Given the description of an element on the screen output the (x, y) to click on. 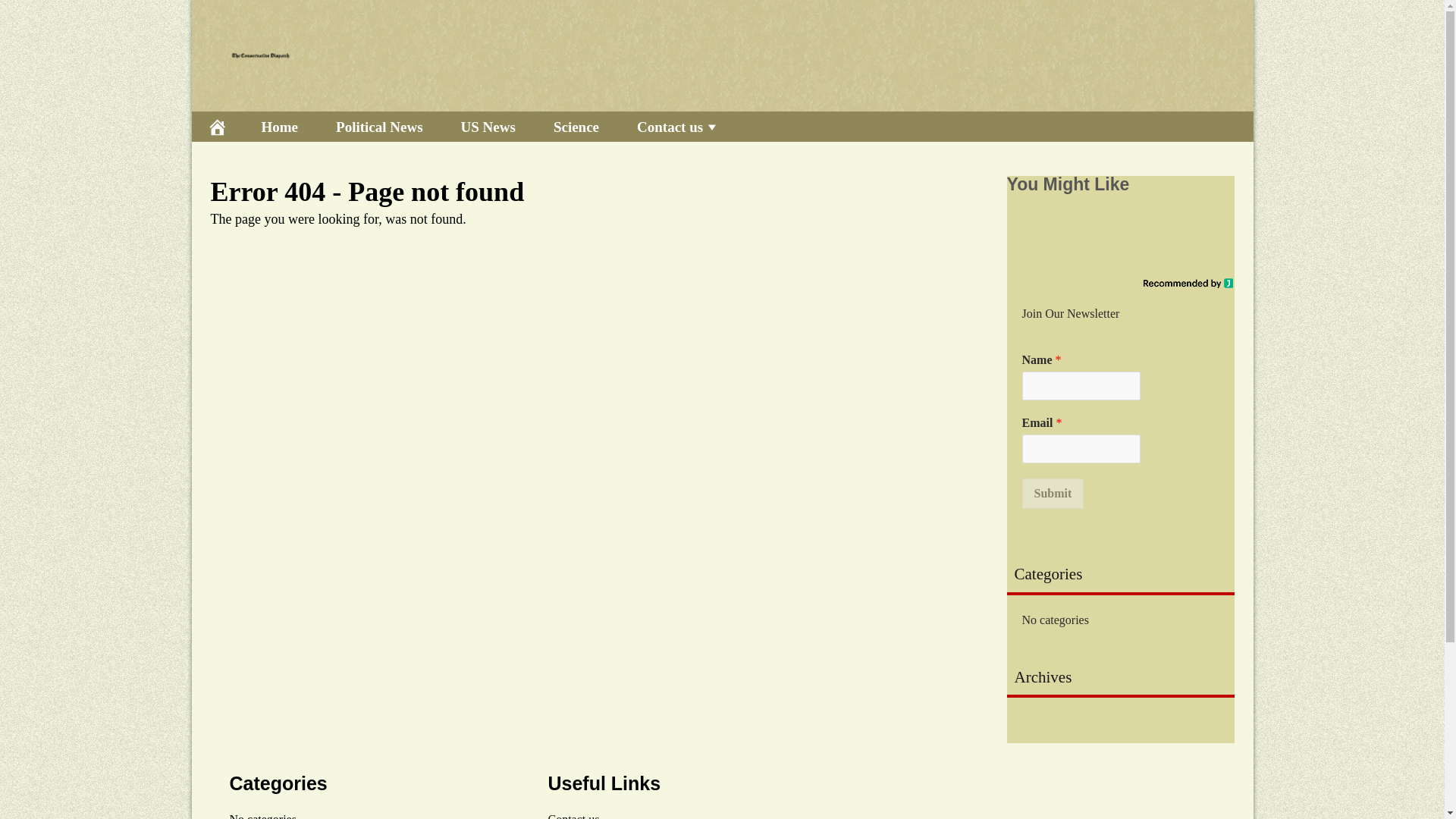
Science (575, 126)
Home Political News US News Science Contact us (721, 126)
Political News (379, 126)
Home (280, 126)
Contact us (677, 126)
Submit (1053, 493)
US News (488, 126)
Contact us (572, 816)
